Given the description of an element on the screen output the (x, y) to click on. 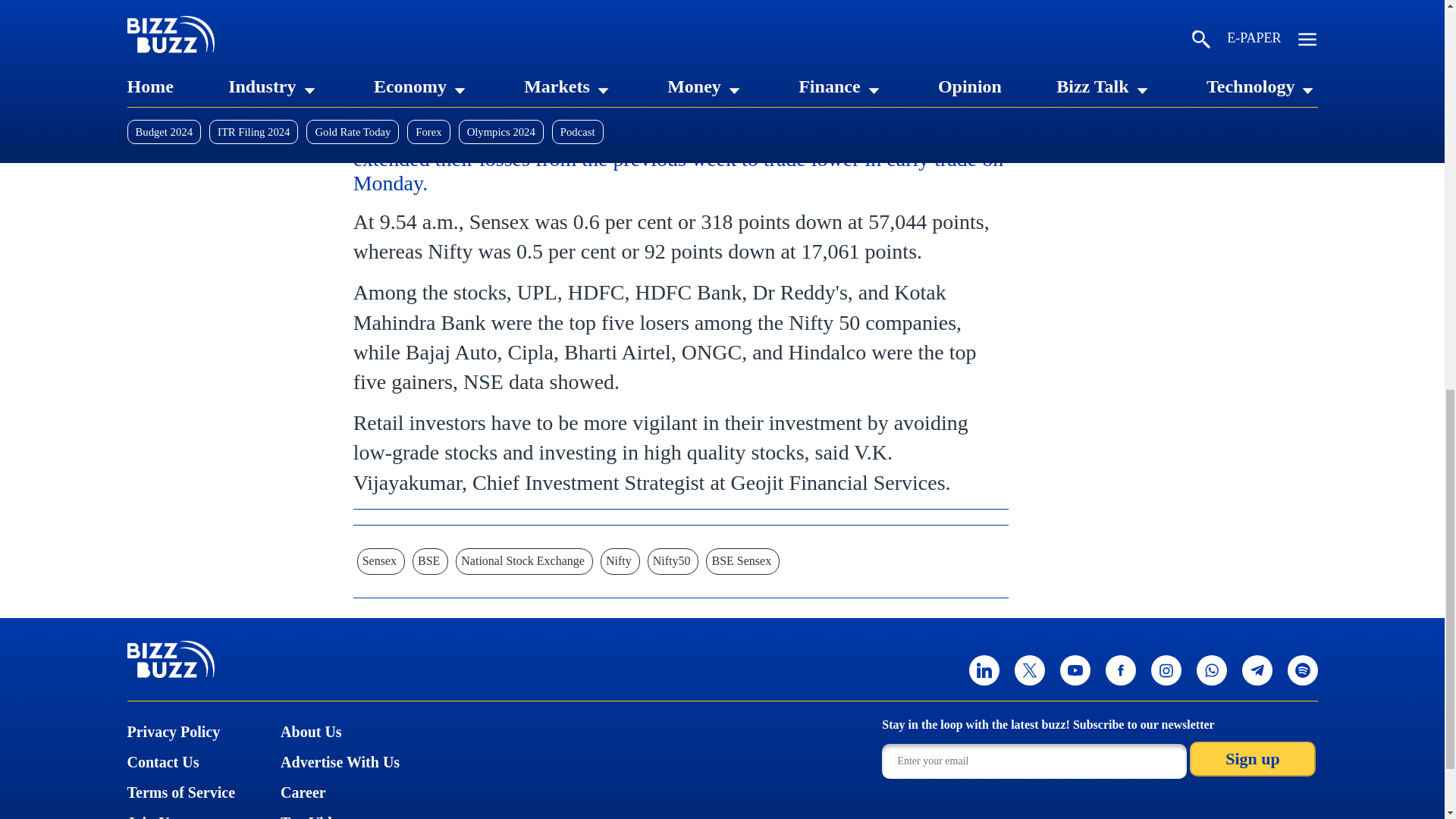
Share by Email (567, 91)
LinkedIn (368, 91)
